Given the description of an element on the screen output the (x, y) to click on. 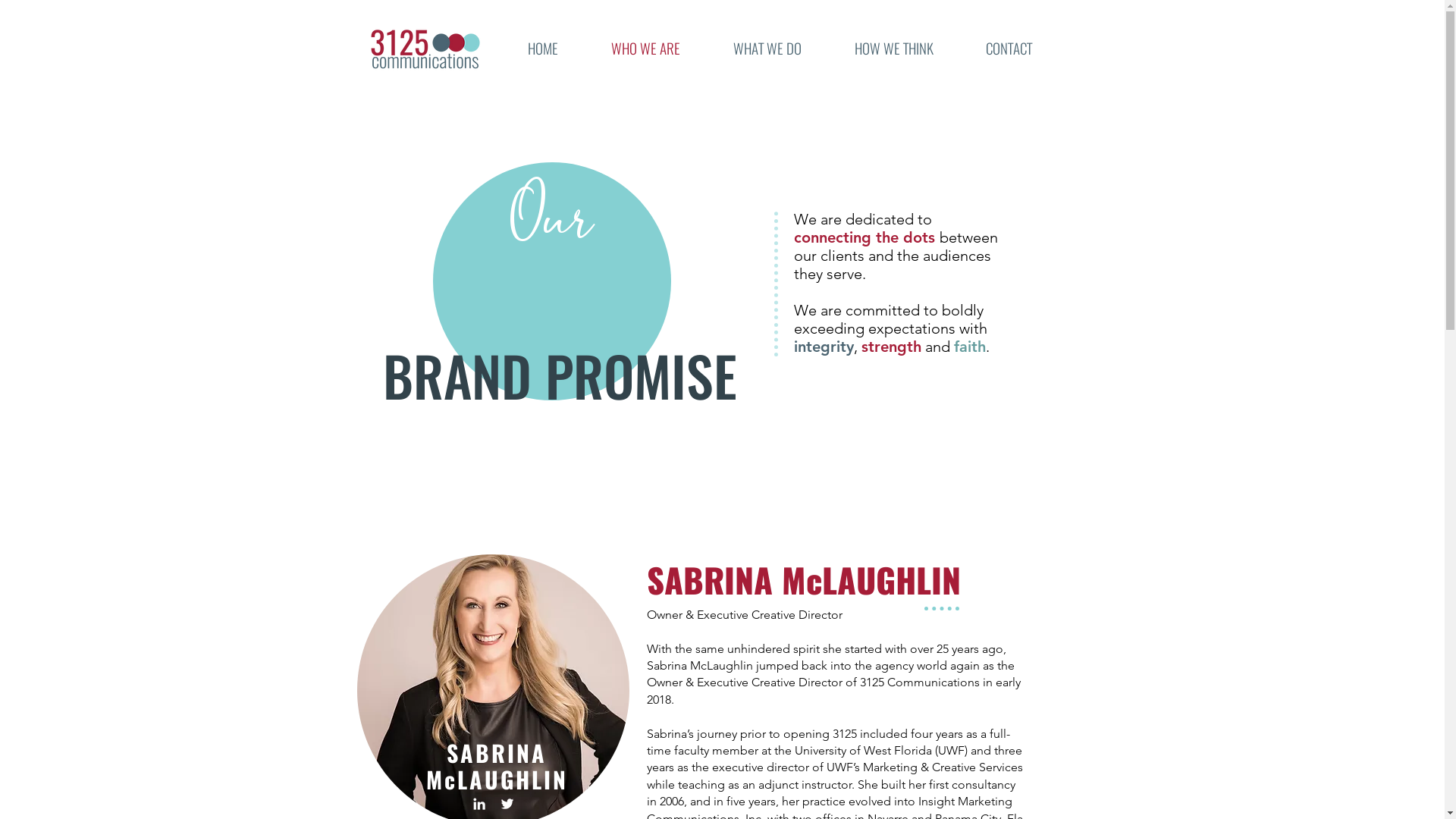
WHAT WE DO Element type: text (767, 48)
CONTACT Element type: text (1009, 48)
HOW WE THINK Element type: text (894, 48)
HOME Element type: text (541, 48)
WHO WE ARE Element type: text (644, 48)
